Given the description of an element on the screen output the (x, y) to click on. 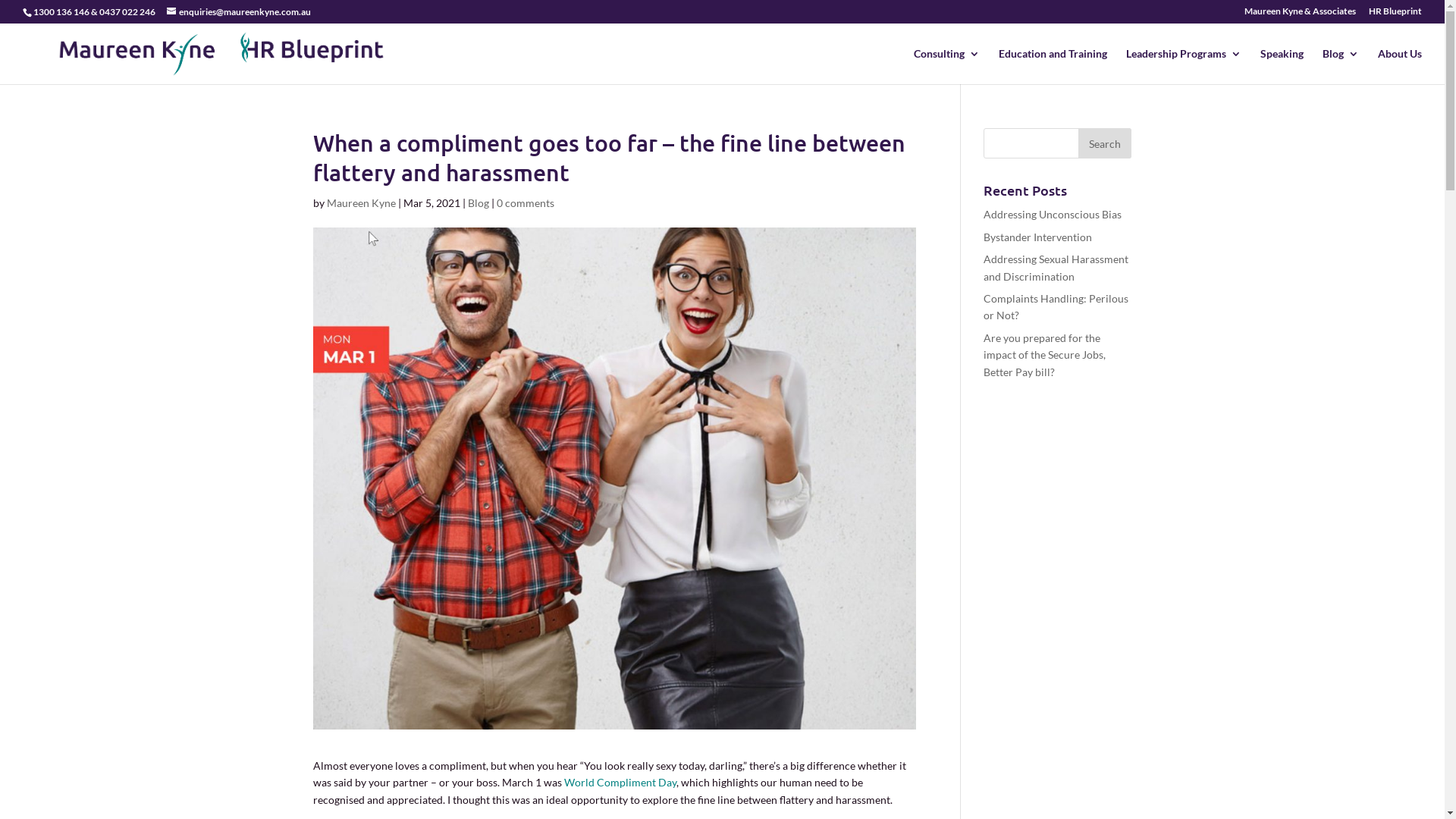
Bystander Intervention Element type: text (1037, 236)
enquiries@maureenkyne.com.au Element type: text (238, 11)
Maureen Kyne Element type: text (360, 202)
Search Element type: text (1104, 143)
0 comments Element type: text (524, 202)
About Us Element type: text (1399, 66)
Addressing Unconscious Bias Element type: text (1052, 213)
HR Blueprint Element type: text (1394, 14)
Leadership Programs Element type: text (1183, 66)
Addressing Sexual Harassment and Discrimination Element type: text (1055, 267)
Blog Element type: text (477, 202)
Speaking Element type: text (1281, 66)
World Compliment Day Element type: text (620, 781)
Education and Training Element type: text (1052, 66)
Complaints Handling: Perilous or Not? Element type: text (1055, 306)
Maureen Kyne & Associates Element type: text (1299, 14)
Blog Element type: text (1340, 66)
Consulting Element type: text (946, 66)
